Given the description of an element on the screen output the (x, y) to click on. 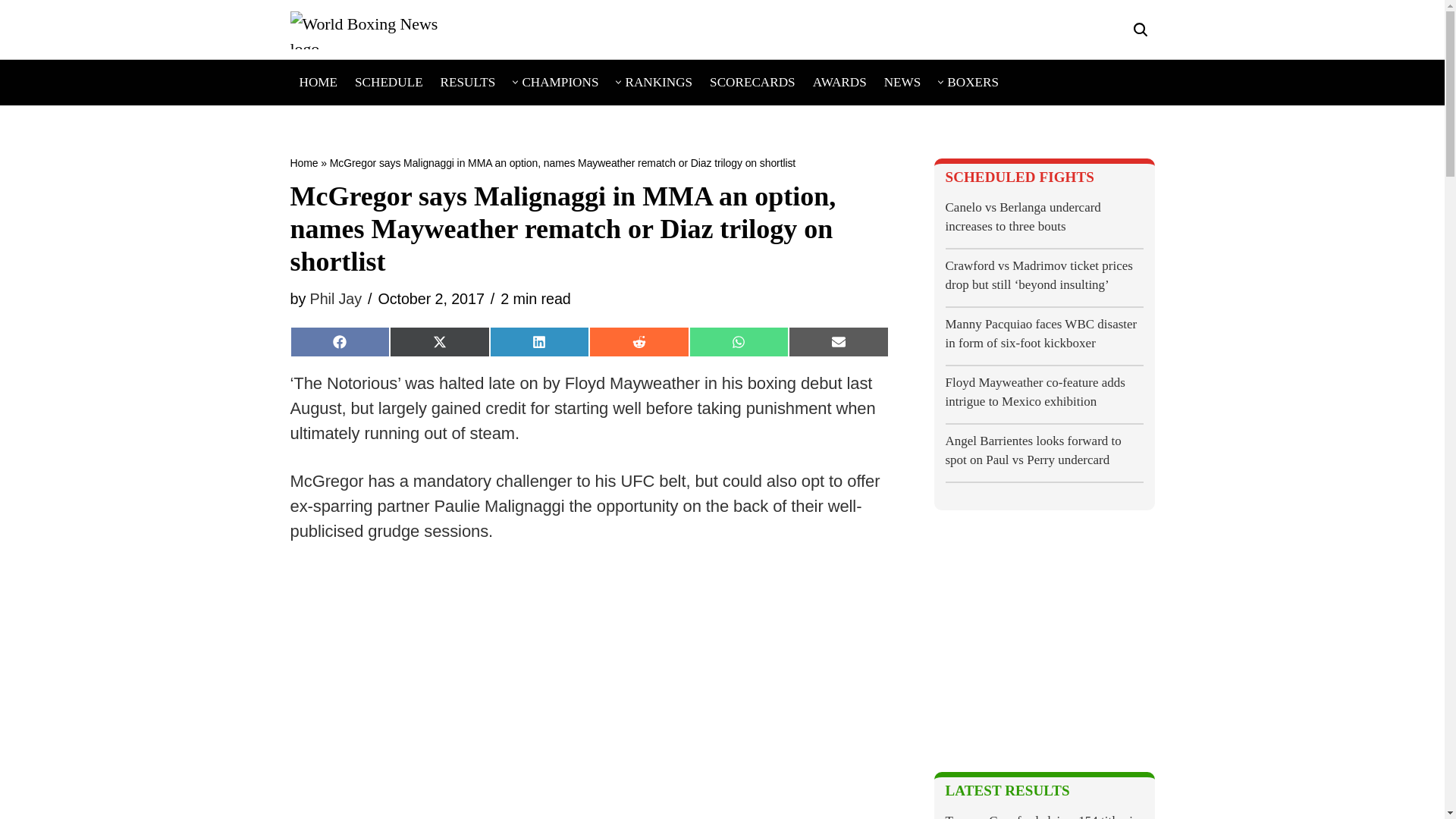
HOME (317, 81)
AWARDS (839, 81)
Skip to content (11, 31)
RANKINGS (658, 81)
SCORECARDS (752, 81)
CHAMPIONS (559, 81)
RESULTS (468, 81)
Posts by Phil Jay (335, 298)
SCHEDULE (389, 81)
BOXERS (972, 81)
